Given the description of an element on the screen output the (x, y) to click on. 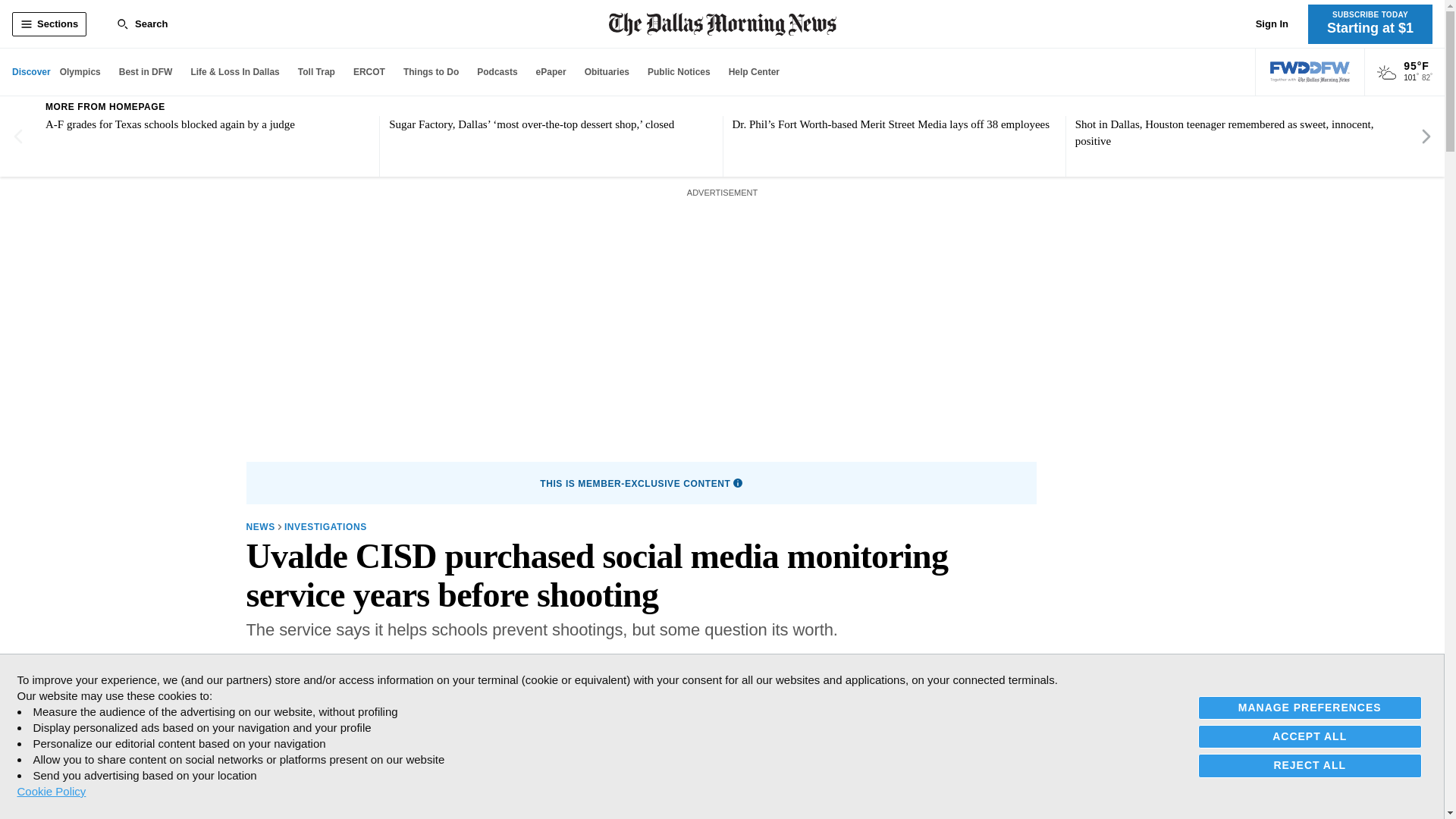
ACCEPT ALL (1310, 736)
Cookie Policy (50, 790)
MANAGE PREFERENCES (1310, 707)
Scattered clouds (1386, 72)
REJECT ALL (1310, 765)
FWD DFW, Together with The Dallas Morning News (1310, 72)
